Given the description of an element on the screen output the (x, y) to click on. 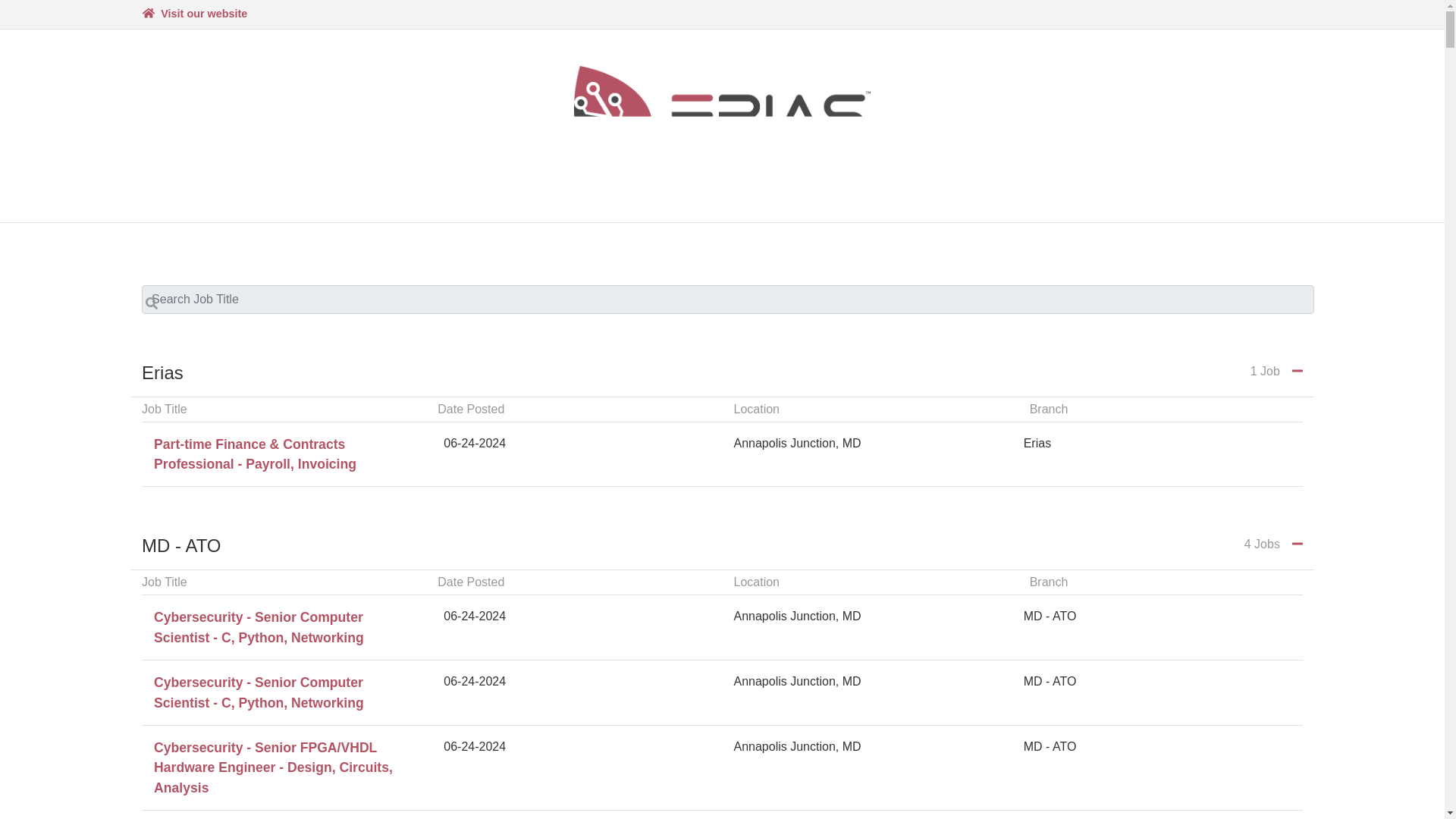
Visit our website (194, 13)
